Given the description of an element on the screen output the (x, y) to click on. 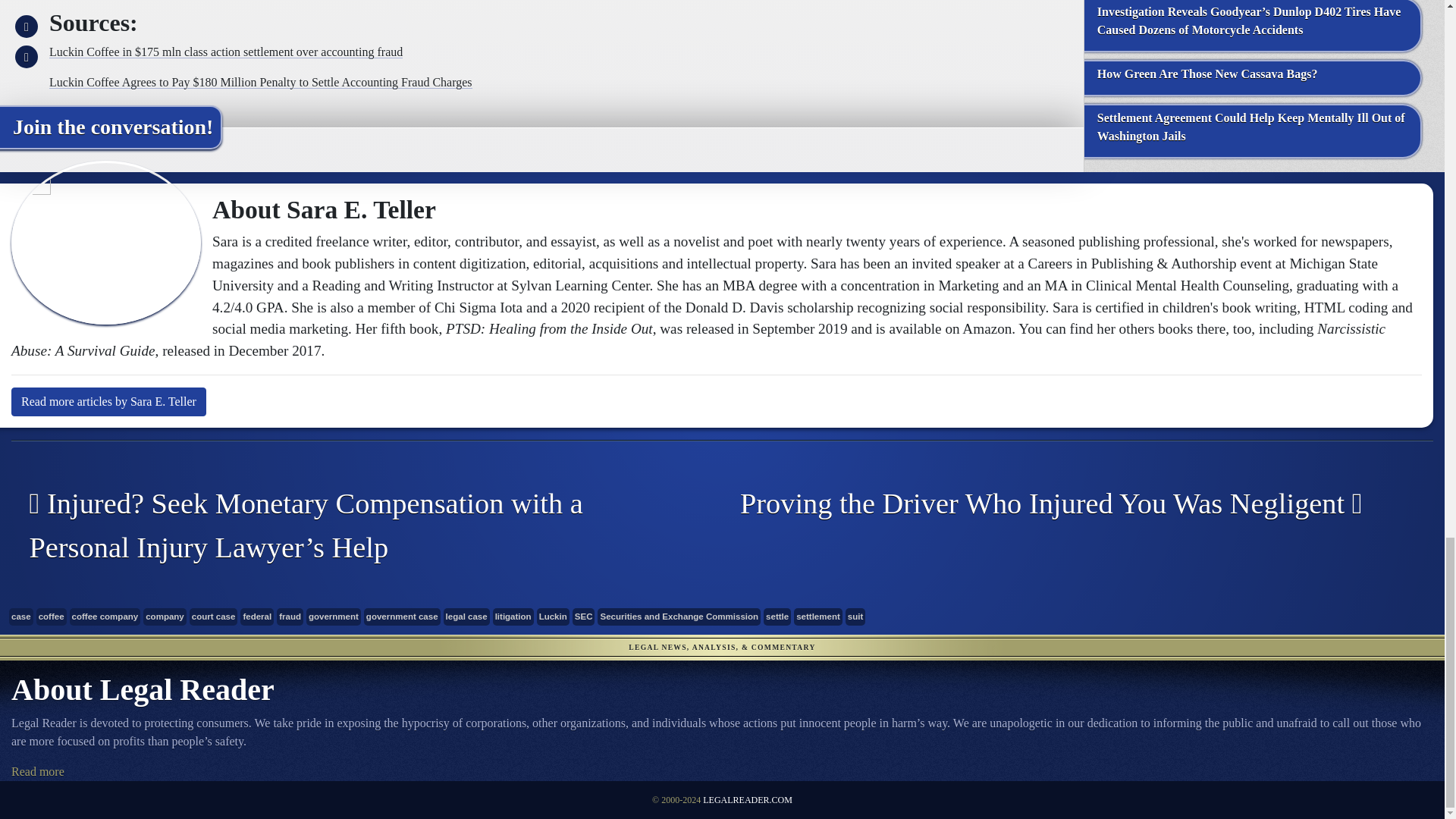
case (20, 616)
company (164, 616)
Proving the Driver Who Injured You Was Negligent  (1066, 504)
fraud (289, 616)
court case (213, 616)
coffee (51, 616)
coffee company (105, 616)
federal (256, 616)
Read more articles by Sara E. Teller (108, 401)
Read more articles by Sara E. Teller (108, 401)
